Given the description of an element on the screen output the (x, y) to click on. 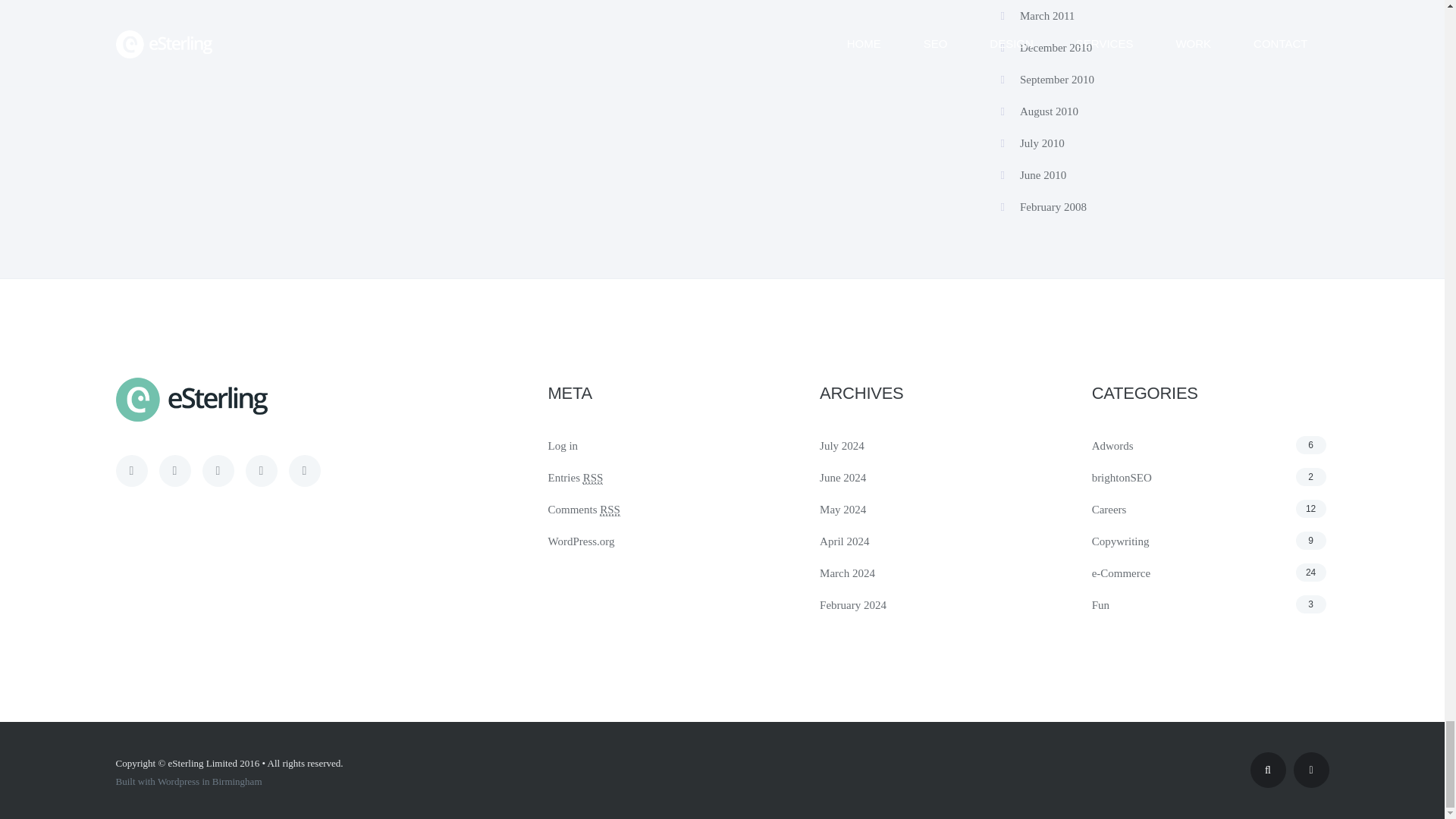
Really Simple Syndication (593, 477)
Facebook (217, 470)
LinkedIn (304, 470)
Dribbble (174, 470)
Really Simple Syndication (609, 509)
Twitter (131, 470)
Instagram (262, 470)
